Given the description of an element on the screen output the (x, y) to click on. 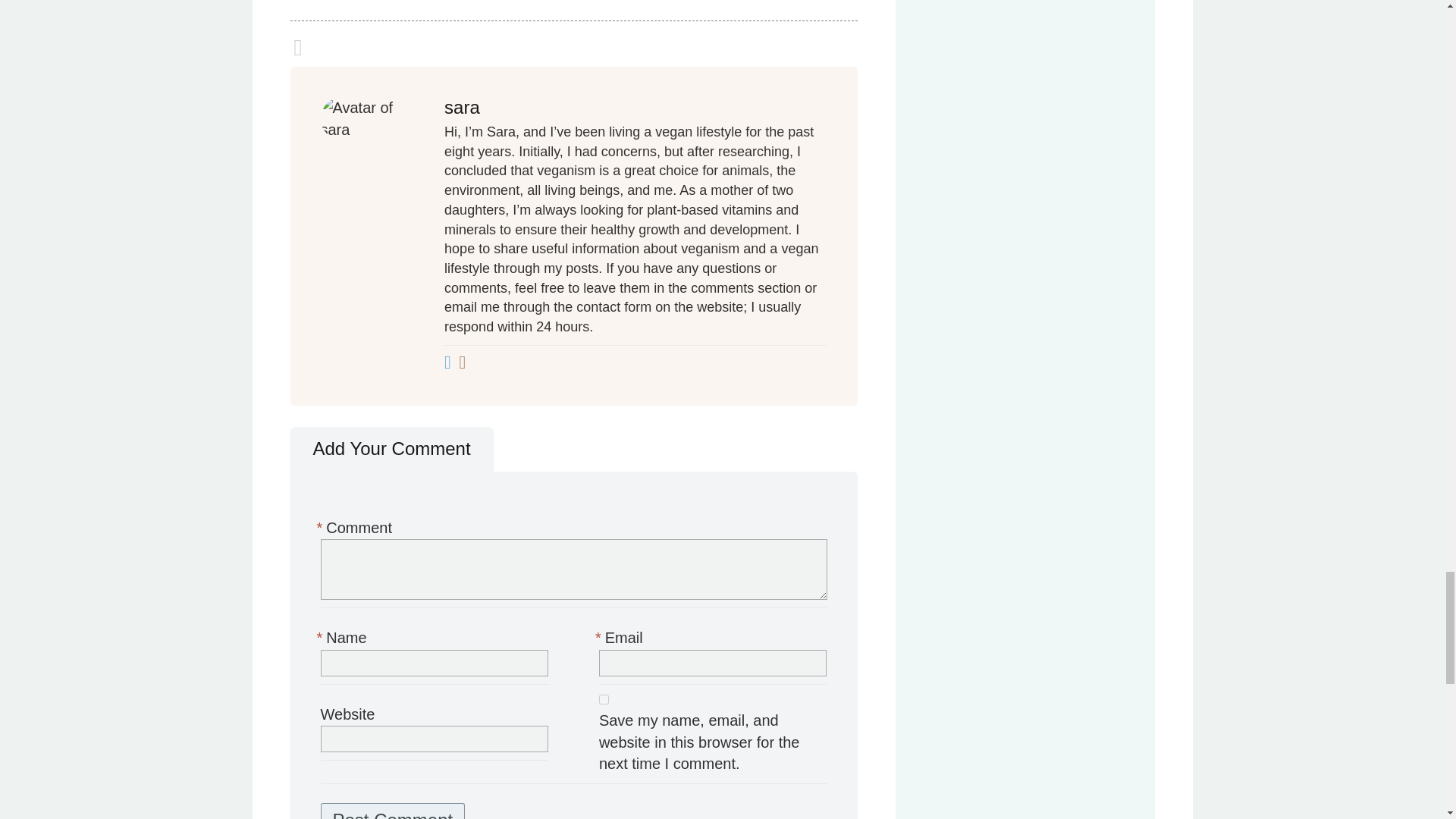
yes (603, 699)
Post Comment (392, 811)
